Given the description of an element on the screen output the (x, y) to click on. 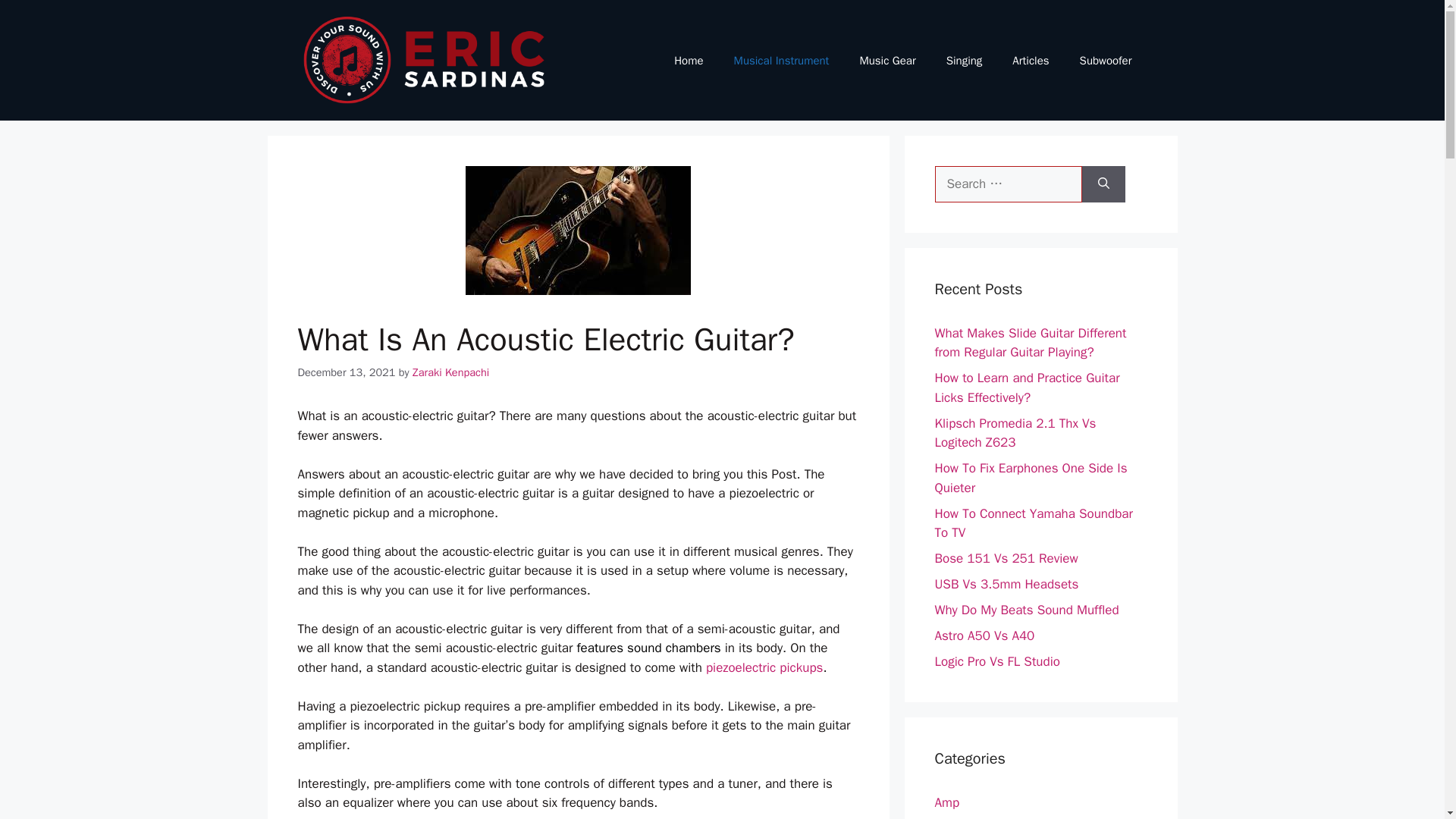
Singing (964, 60)
piezoelectric pickups (764, 667)
How To Connect Yamaha Soundbar To TV (1033, 522)
View all posts by Zaraki Kenpachi (450, 372)
Music Gear (887, 60)
Bose 151 Vs 251 Review (1005, 558)
How To Fix Earphones One Side Is Quieter (1030, 478)
Amp (946, 802)
Zaraki Kenpachi (450, 372)
